Given the description of an element on the screen output the (x, y) to click on. 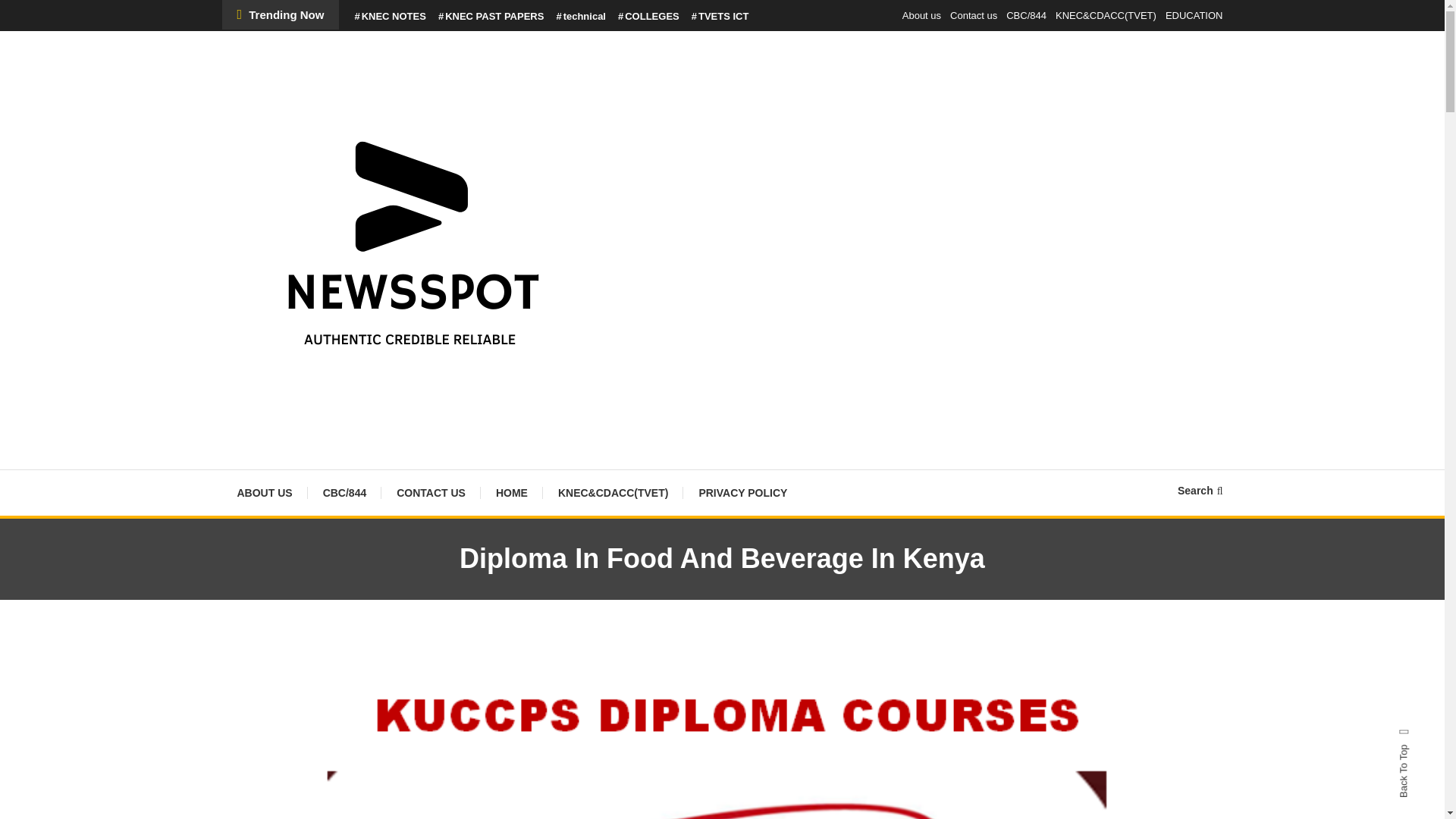
Search (1200, 490)
technical (580, 16)
EDUCATION (1194, 15)
ABOUT US (264, 492)
Search (768, 432)
KNEC PAST PAPERS (491, 16)
COLLEGES (648, 16)
KNEC NOTES (389, 16)
Contact us (973, 15)
About us (921, 15)
